Given the description of an element on the screen output the (x, y) to click on. 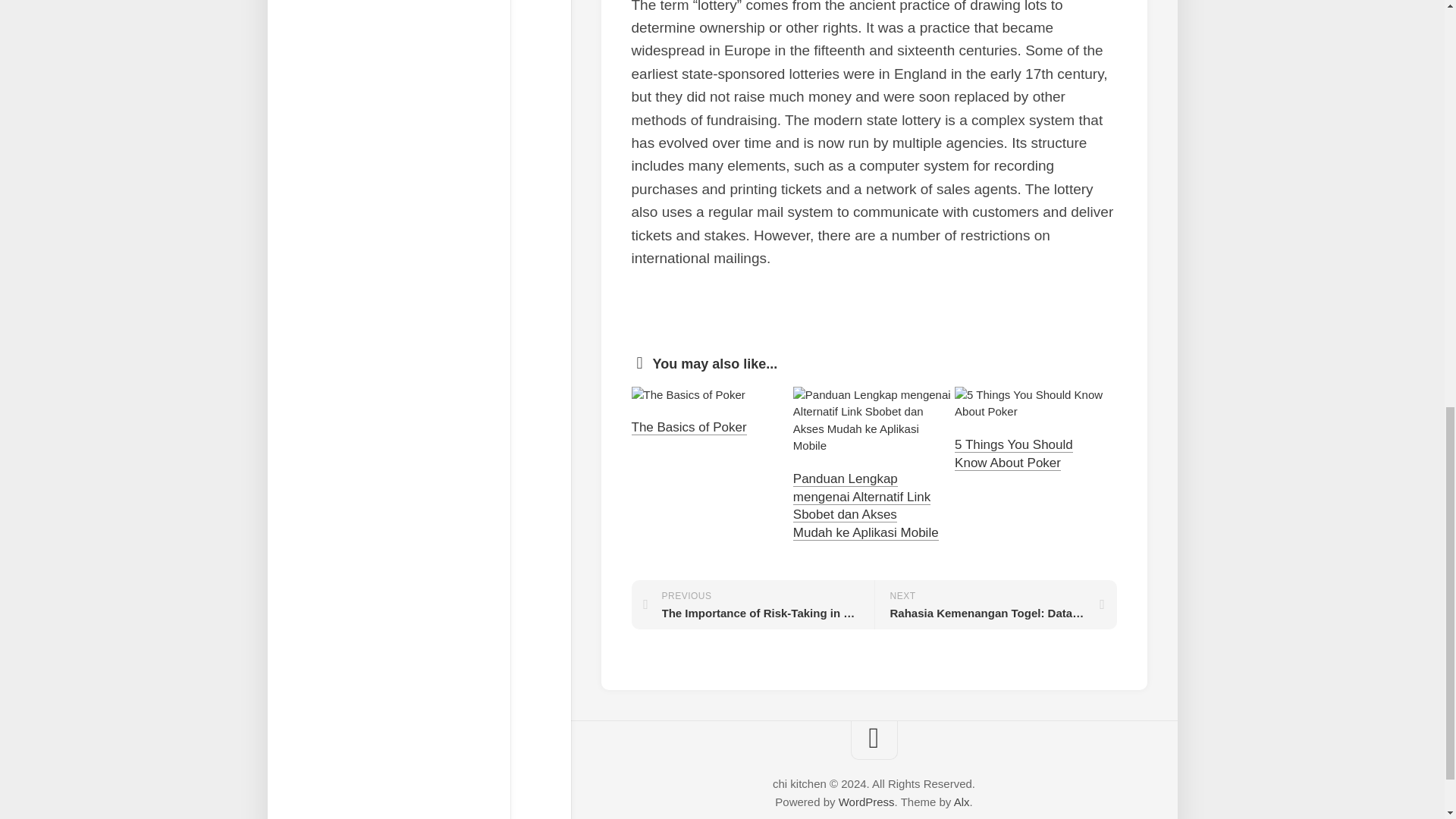
5 Things You Should Know About Poker (1014, 453)
The Basics of Poker (687, 427)
WordPress (866, 801)
Alx (751, 604)
